Given the description of an element on the screen output the (x, y) to click on. 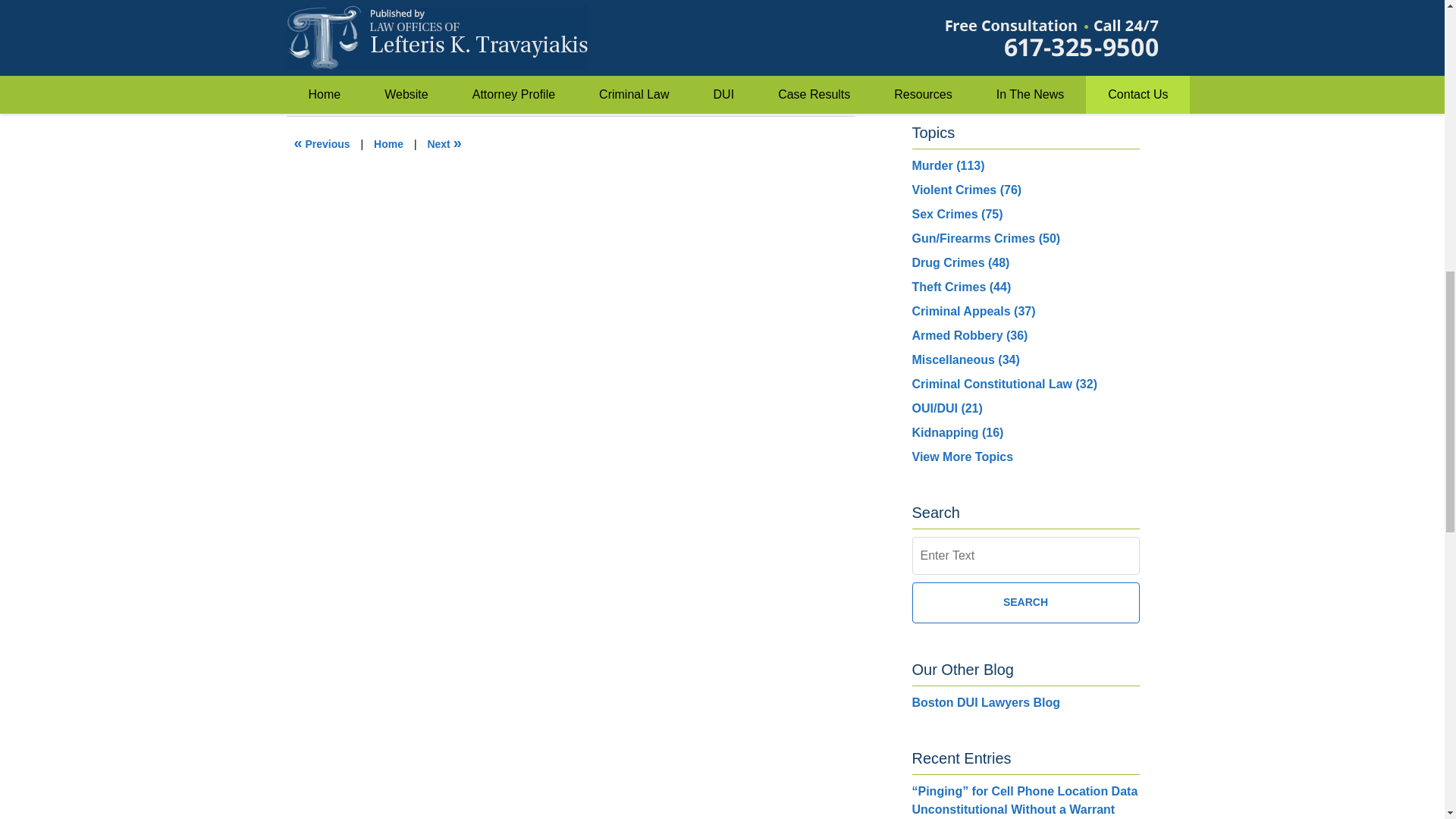
Boston Man Arrested for Murder of Elderly Neighbor (443, 144)
Lowell Man Charged with Attempted Murder in Home Invasion (322, 144)
View all posts in Sex Crimes (365, 57)
